Given the description of an element on the screen output the (x, y) to click on. 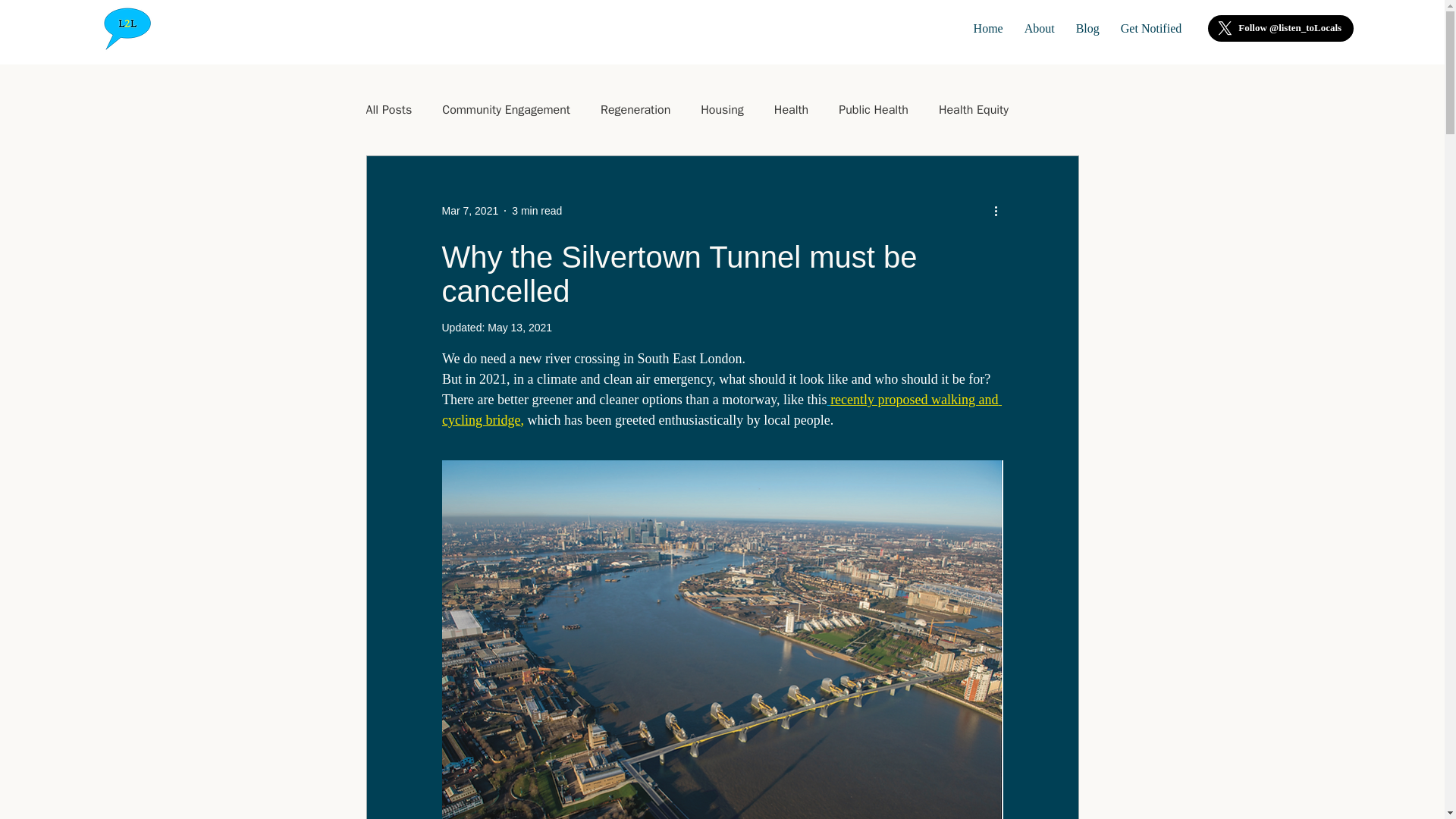
Home (988, 27)
Public Health (873, 109)
Community Engagement (506, 109)
Blog (1087, 27)
Mar 7, 2021 (469, 210)
3 min read (537, 210)
Health (791, 109)
Health Equity (974, 109)
All Posts (388, 109)
Housing (722, 109)
Regeneration (634, 109)
About (1039, 27)
May 13, 2021 (519, 327)
